Given the description of an element on the screen output the (x, y) to click on. 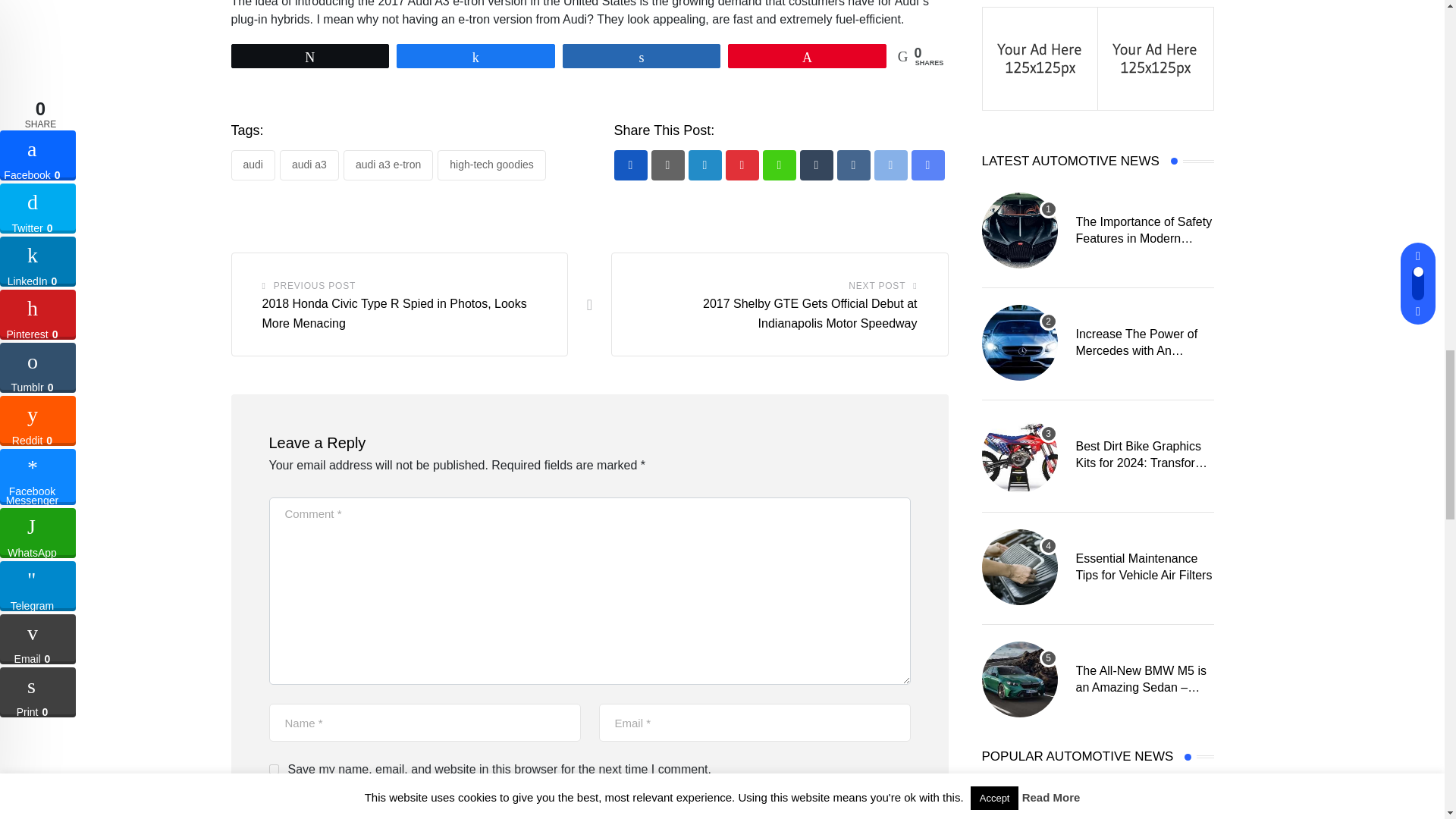
Post Comment (340, 805)
Advertise (1039, 56)
Essential Maintenance Tips for Vehicle Air Filters (1019, 567)
Best Dirt Bike Graphics Kits for 2024: Transform Your Ride (1019, 454)
yes (272, 768)
Advertise (1155, 56)
Increase The Power of Mercedes with An Chiptuning Ecu (1019, 342)
The Importance of Safety Features in Modern Supercars (1019, 230)
